Given the description of an element on the screen output the (x, y) to click on. 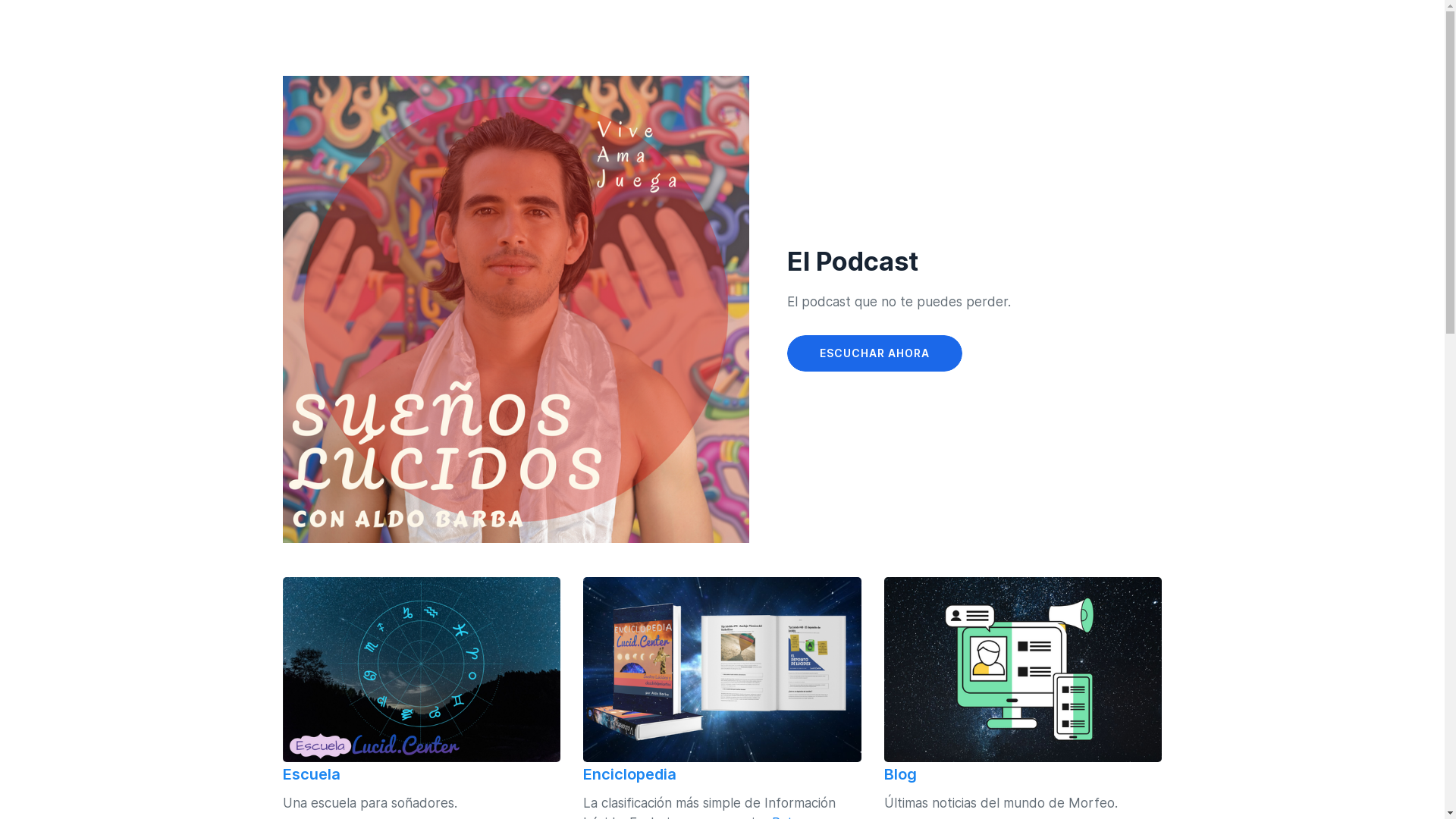
ESCUCHAR AHORA Element type: text (874, 352)
Escuela Element type: text (310, 774)
Enciclopedia Element type: text (629, 774)
Blog Element type: text (900, 774)
